Given the description of an element on the screen output the (x, y) to click on. 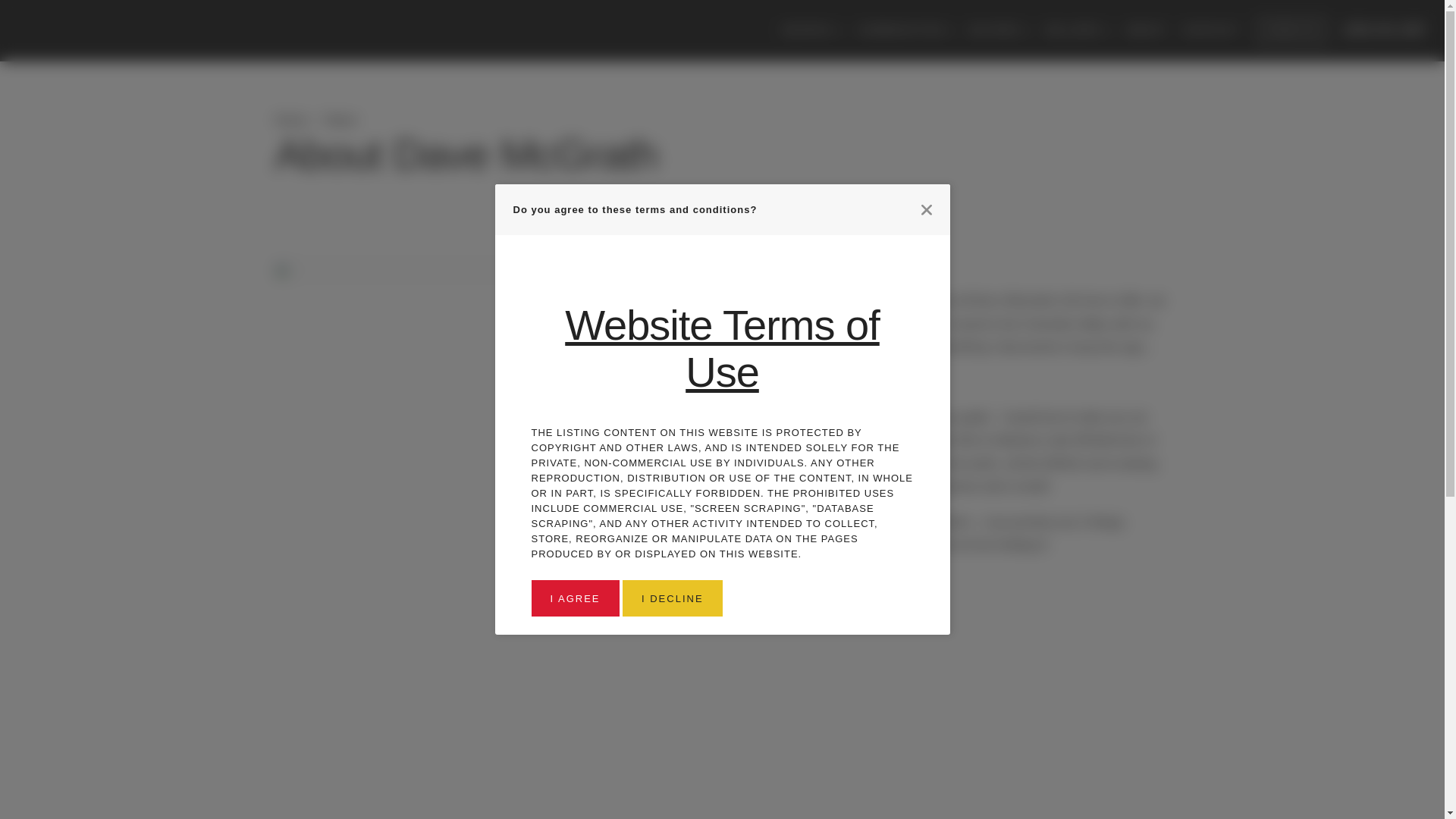
SIGN IN (1290, 30)
SELLERS DROPDOWN ARROW (1077, 30)
CONTACT (1211, 30)
BUYERS DROPDOWN ARROW (999, 30)
Home (292, 119)
SEARCH DROPDOWN ARROW (812, 30)
DROPDOWN ARROW (1106, 30)
DROPDOWN ARROW (1026, 30)
COMMUNITIES DROPDOWN ARROW (906, 30)
DROPDOWN ARROW (952, 30)
About (340, 119)
DROPDOWN ARROW (839, 30)
ABOUT (1146, 30)
